Given the description of an element on the screen output the (x, y) to click on. 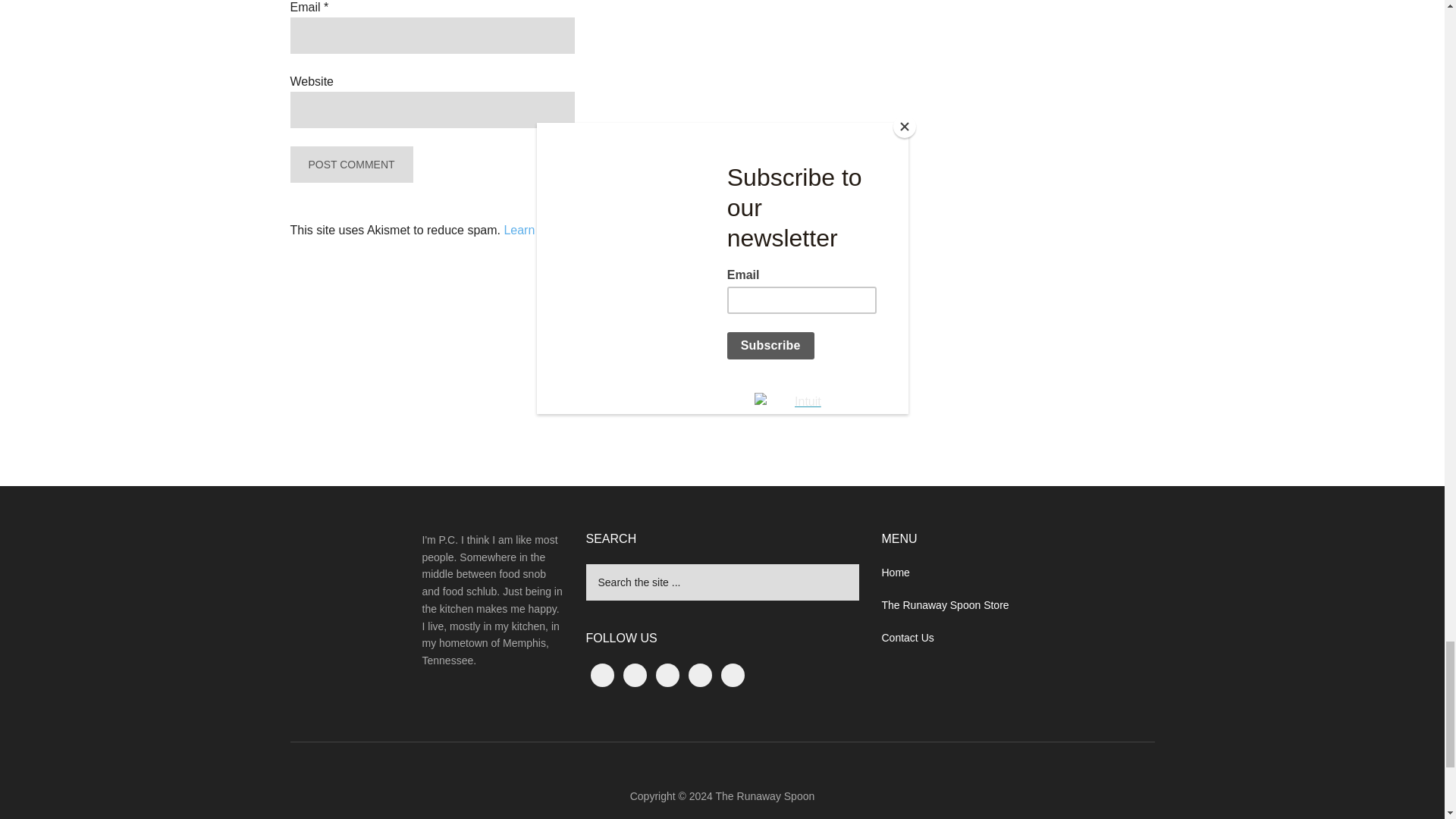
Post Comment (350, 164)
Learn how your comment data is processed (620, 229)
Post Comment (350, 164)
